Given the description of an element on the screen output the (x, y) to click on. 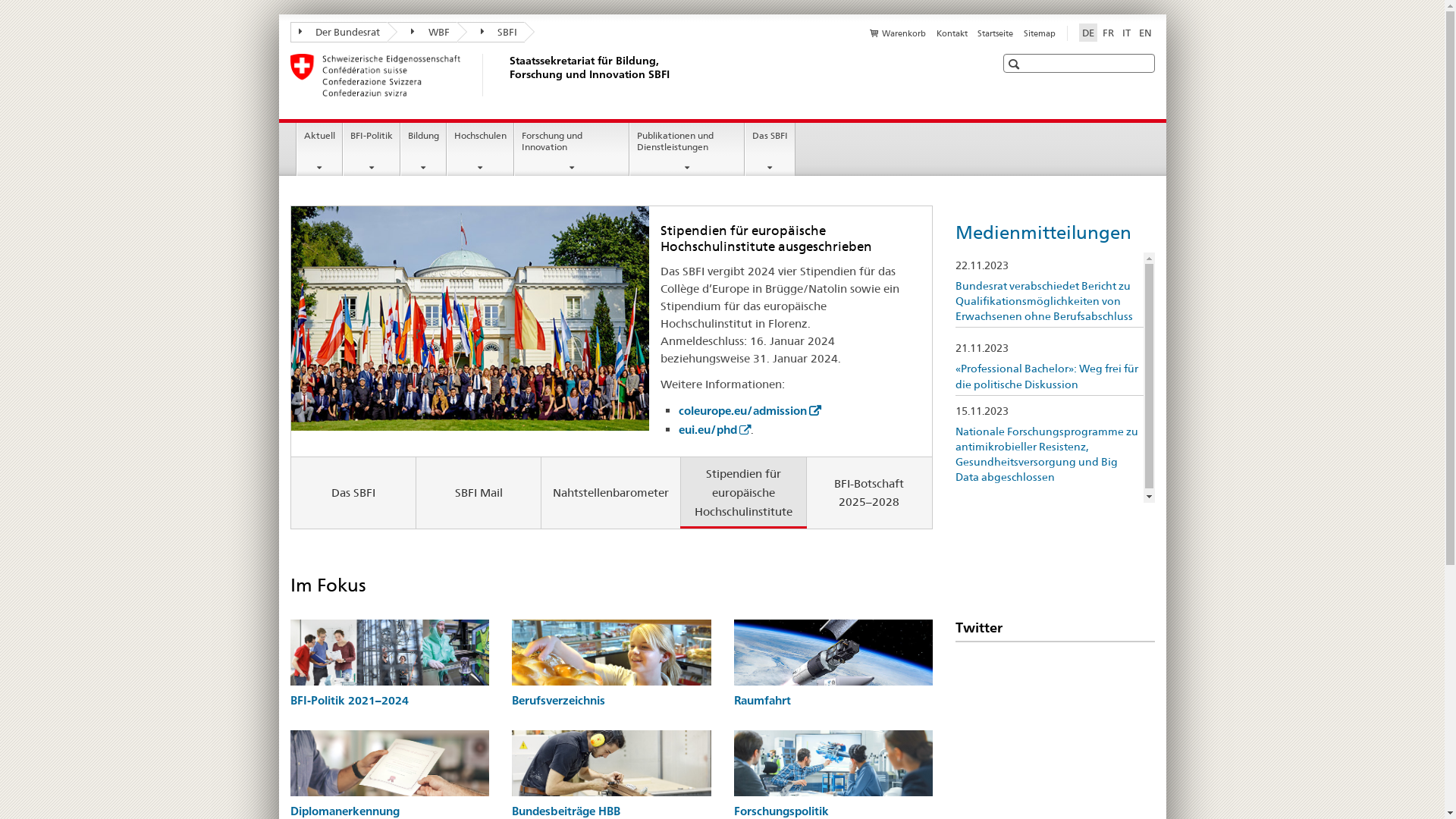
Nahtstellenbarometer Element type: text (610, 492)
SBFI Element type: text (490, 31)
Raumfahrt Element type: text (762, 700)
BFI-Politik Element type: text (371, 148)
Der Bundesrat Element type: text (338, 31)
Aktuell Element type: text (319, 148)
Warenkorb Element type: text (897, 33)
IT Element type: text (1126, 32)
Medienmitteilungen Element type: text (1043, 232)
Publikationen und Dienstleistungen Element type: text (686, 148)
Sitemap Element type: text (1039, 33)
Forschung und Innovation Element type: text (571, 148)
Das SBFI Element type: text (353, 492)
Das SBFI Element type: text (769, 148)
DE Element type: text (1087, 32)
Berufsverzeichnis Element type: text (558, 700)
EN Element type: text (1144, 32)
SBFI Mail Element type: text (478, 492)
Forschungspolitik Element type: text (781, 810)
Hochschulen Element type: text (480, 148)
Diplomanerkennung Element type: text (343, 810)
Kontakt Element type: text (951, 33)
FR Element type: text (1108, 32)
WBF Element type: text (422, 31)
Startseite Element type: text (995, 33)
Bildung Element type: text (423, 148)
